Given the description of an element on the screen output the (x, y) to click on. 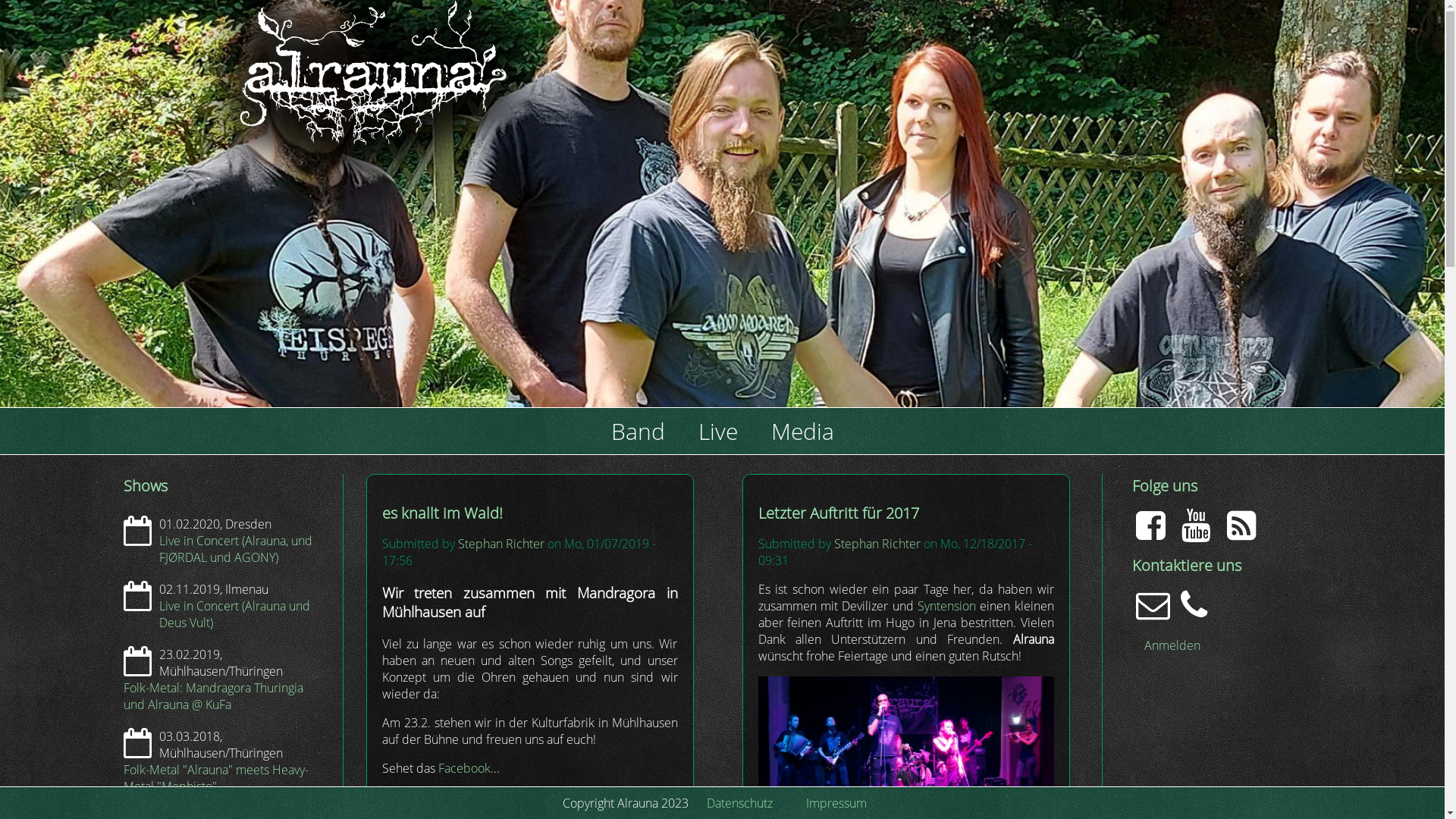
es knallt im Wald! Element type: text (442, 512)
Startseite Element type: hover (180, 231)
Anmelden Element type: text (1171, 645)
Datenschutz Element type: text (739, 802)
Live Element type: text (717, 430)
Impressum Element type: text (836, 802)
Syntension Element type: text (946, 605)
Facebook Element type: text (464, 767)
Band Element type: text (638, 430)
Media Element type: text (801, 430)
Direkt zum Inhalt Element type: text (0, 0)
